Given the description of an element on the screen output the (x, y) to click on. 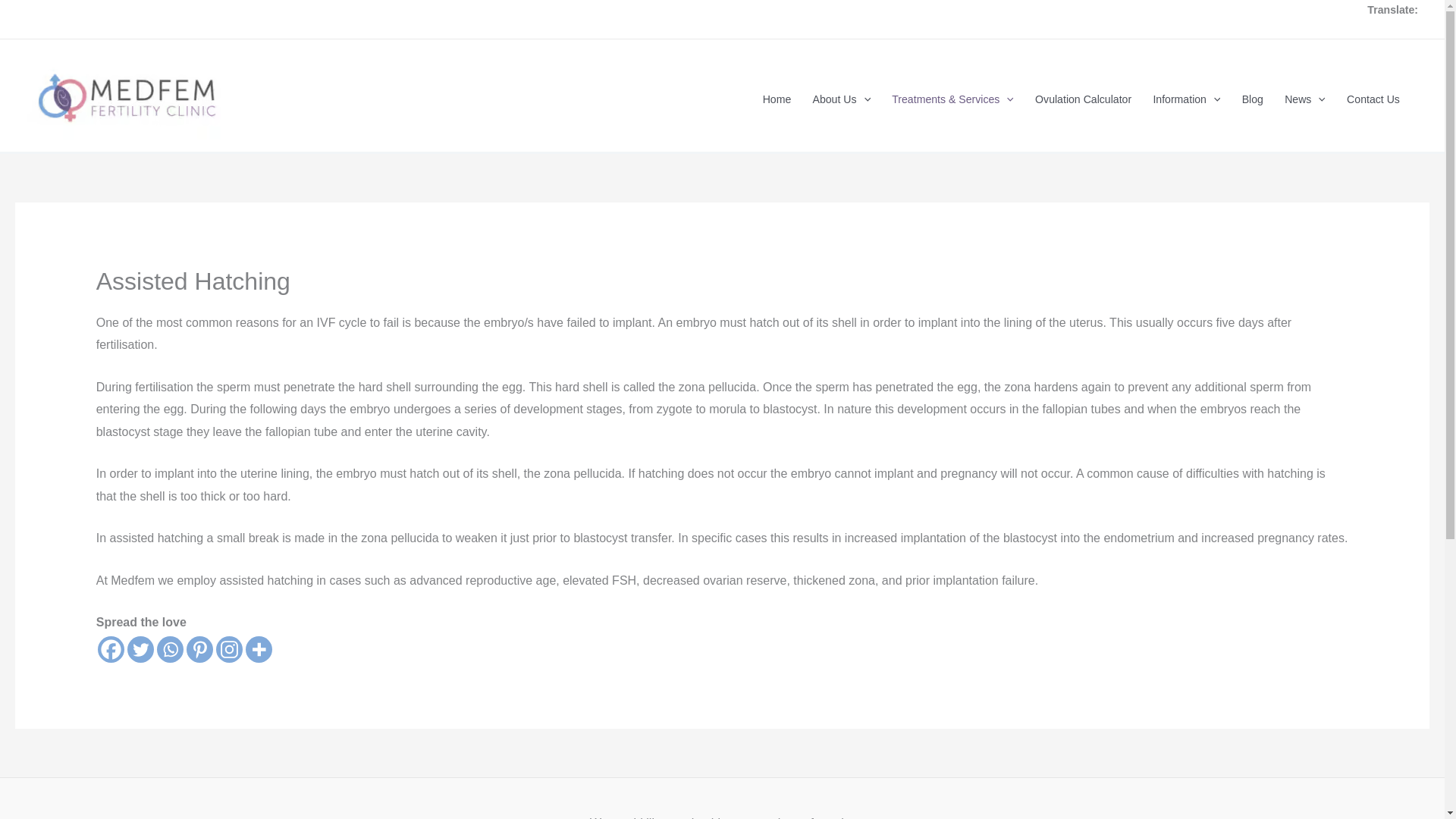
More (259, 649)
Twitter (141, 649)
About Us (841, 98)
Pinterest (199, 649)
Whatsapp (170, 649)
Facebook (110, 649)
Instagram (229, 649)
